Given the description of an element on the screen output the (x, y) to click on. 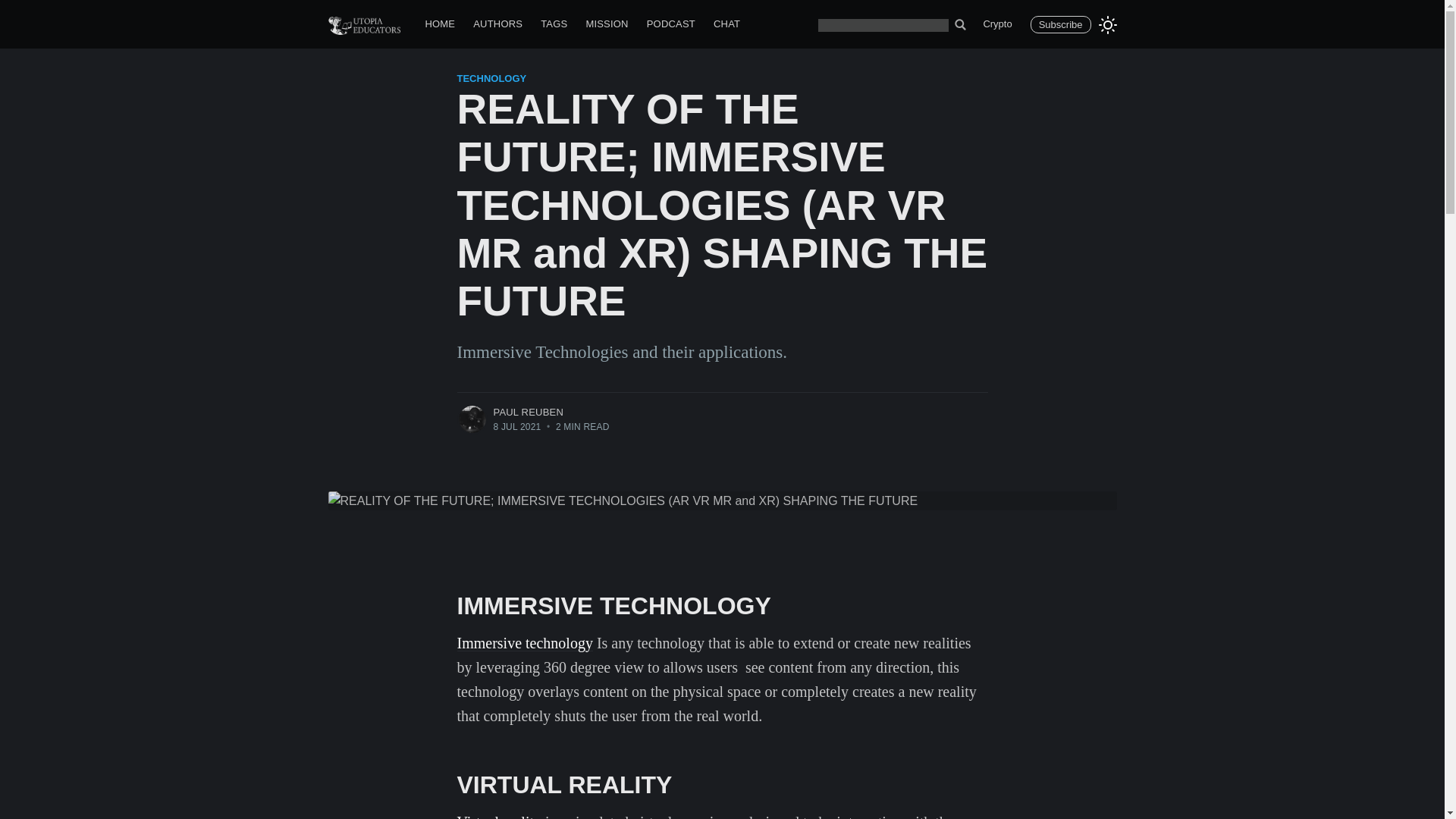
Crypto (997, 24)
MISSION (606, 24)
HOME (439, 24)
Subscribe (1060, 23)
PAUL REUBEN (528, 411)
TAGS (553, 24)
Virtual reality (499, 816)
PODCAST (670, 24)
AUTHORS (497, 24)
TECHNOLOGY (491, 78)
Immersive technology (524, 642)
CHAT (726, 24)
